Given the description of an element on the screen output the (x, y) to click on. 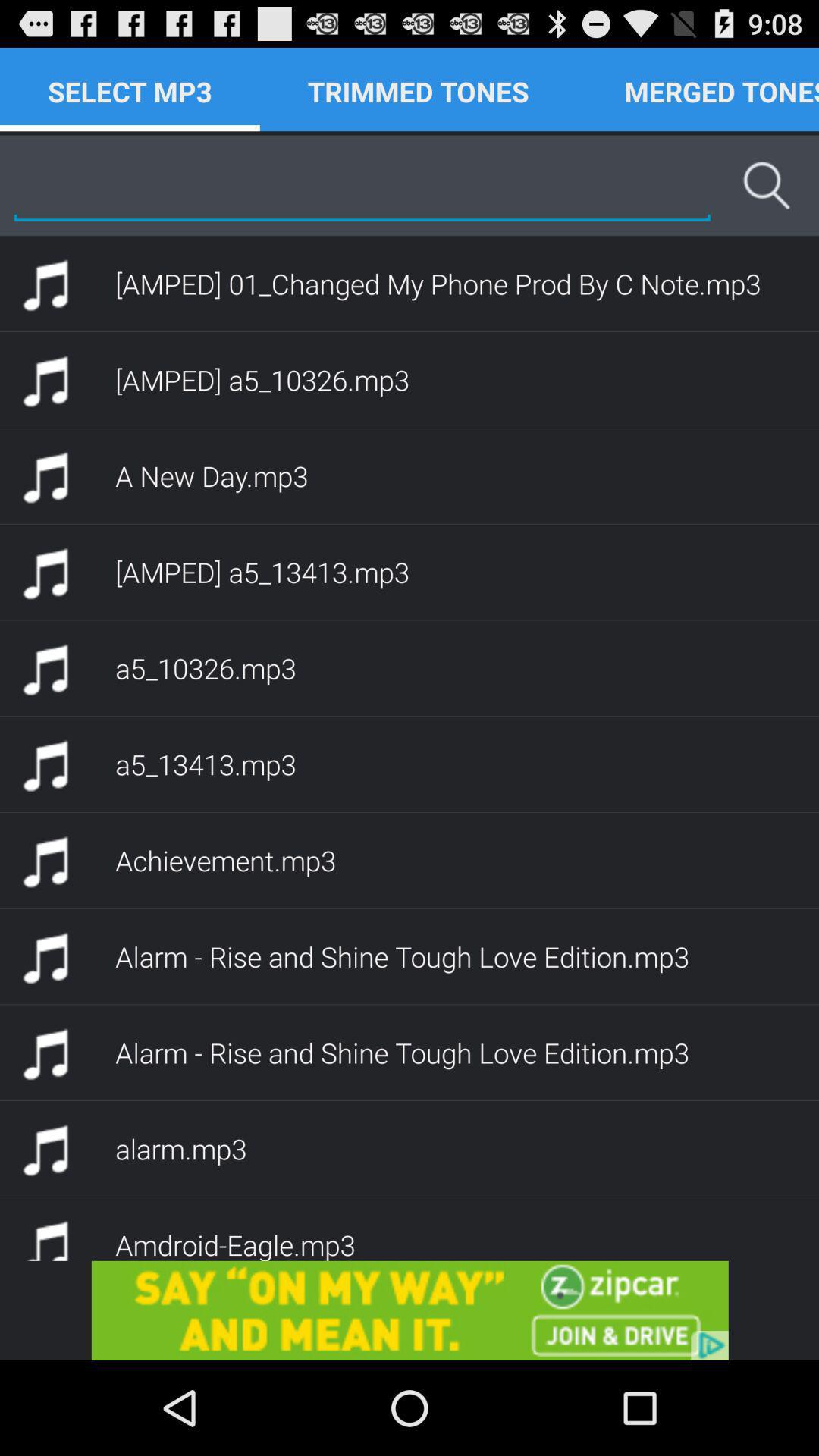
search bar (362, 185)
